Given the description of an element on the screen output the (x, y) to click on. 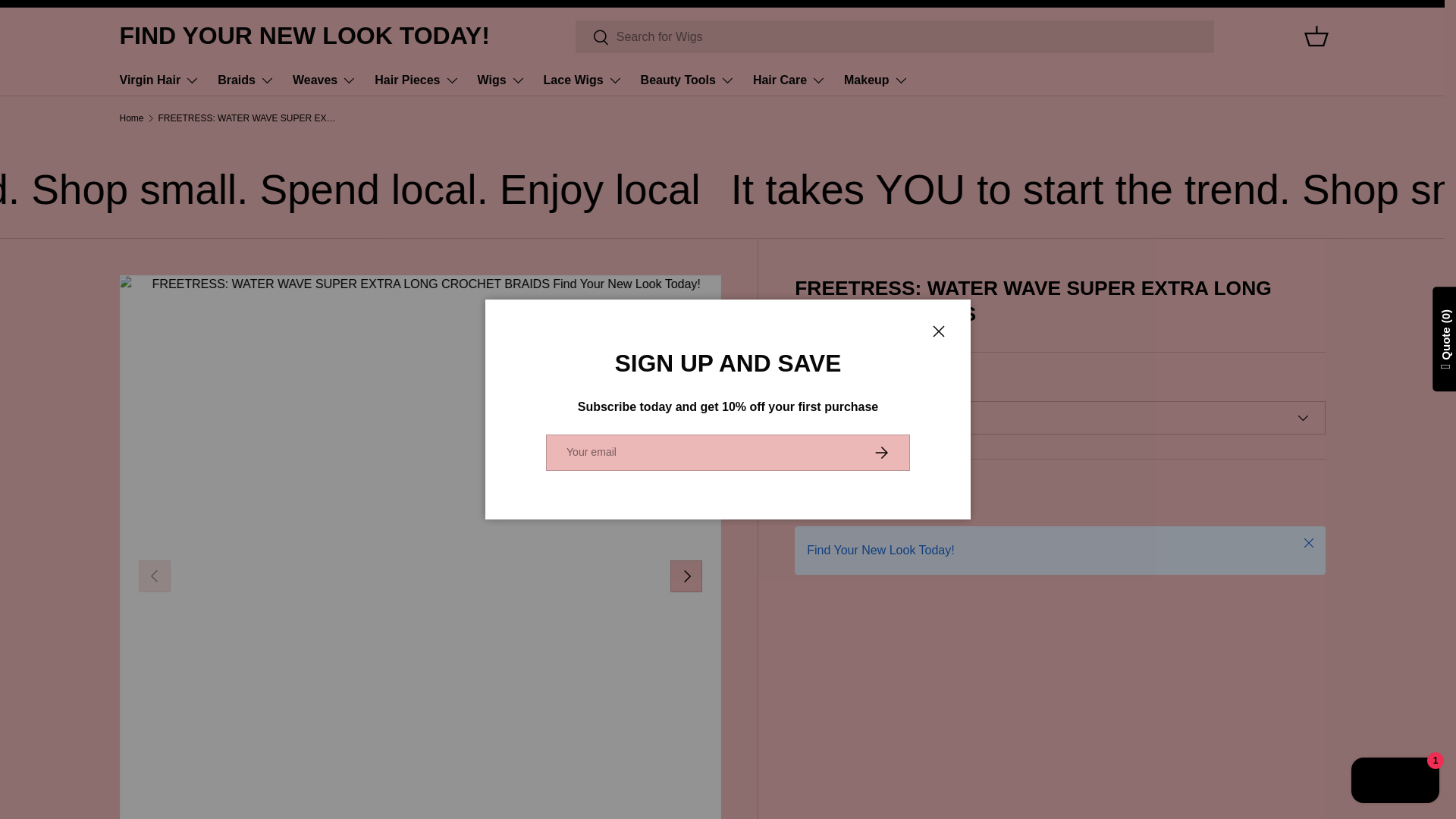
FIND YOUR NEW LOOK TODAY! (304, 36)
Virgin Hair (159, 80)
Braids (245, 80)
SKIP TO CONTENT (68, 21)
Wigs (501, 80)
Hair Pieces (416, 80)
Basket (1316, 36)
Search (592, 37)
Weaves (324, 80)
Shopify online store chat (1395, 781)
